Given the description of an element on the screen output the (x, y) to click on. 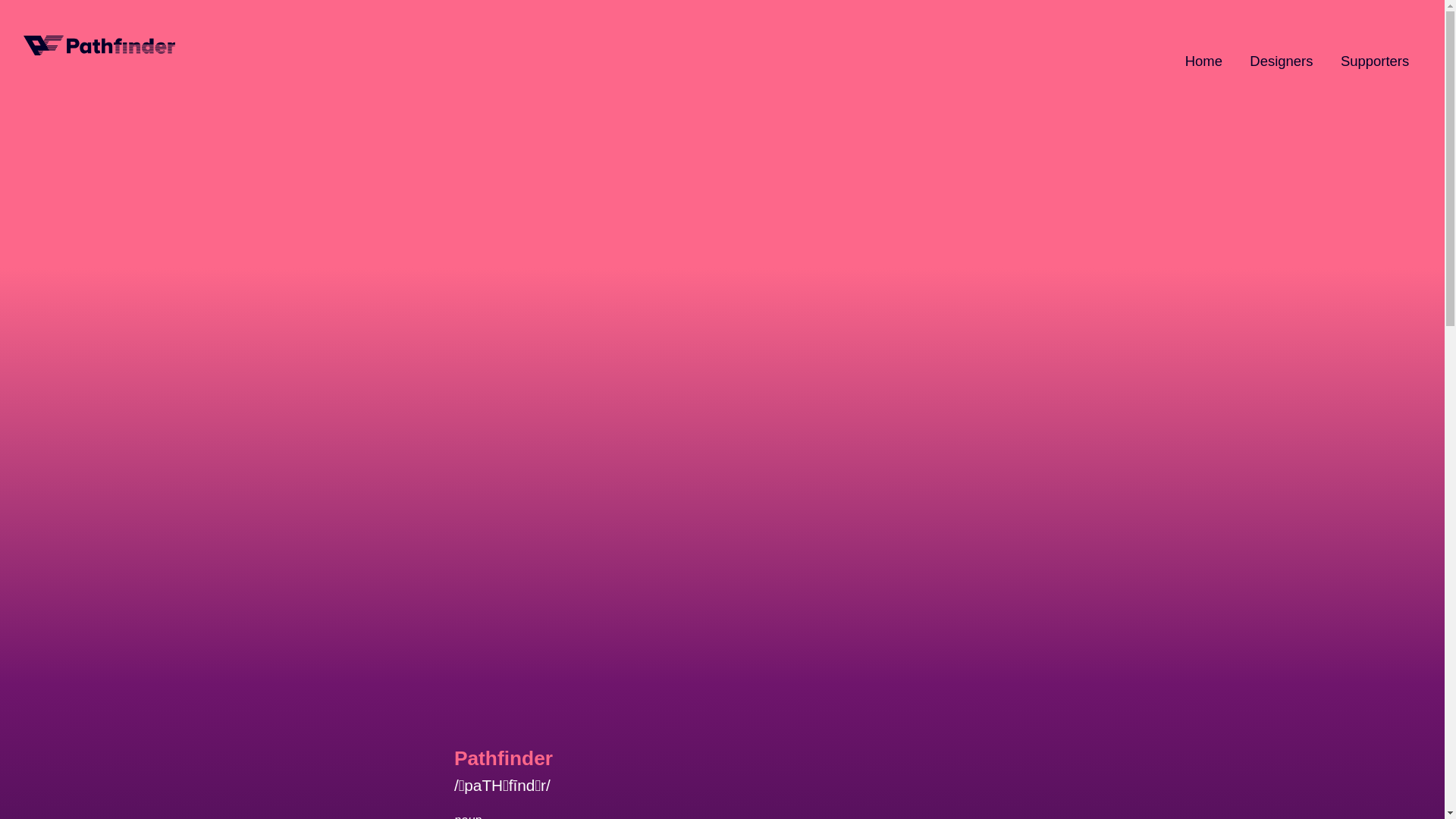
Supporters Element type: text (1374, 60)
Home Element type: text (1203, 60)
Designers Element type: text (1281, 60)
